Given the description of an element on the screen output the (x, y) to click on. 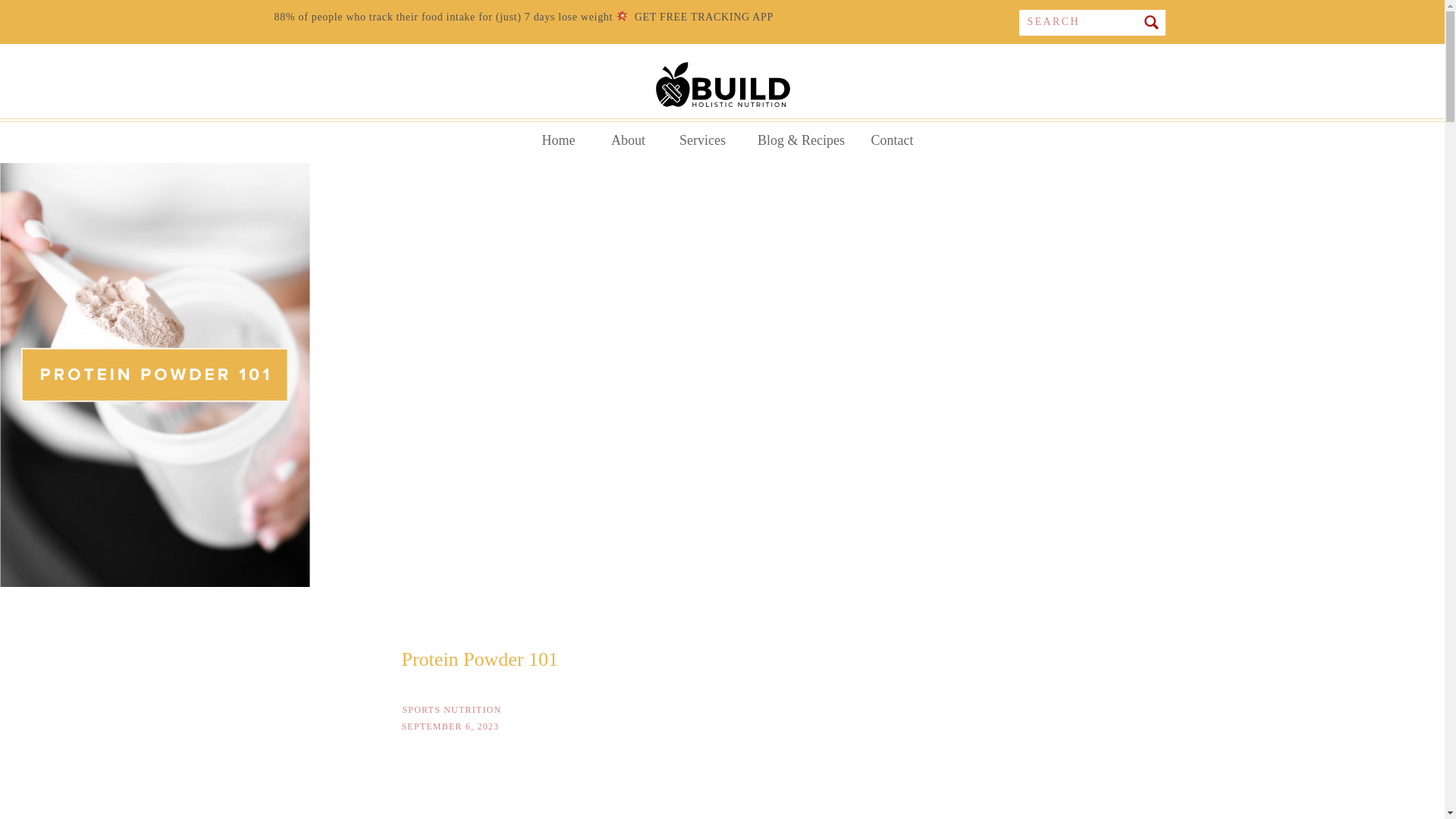
Contact (891, 140)
About (627, 140)
Home (557, 140)
Services (701, 140)
